Given the description of an element on the screen output the (x, y) to click on. 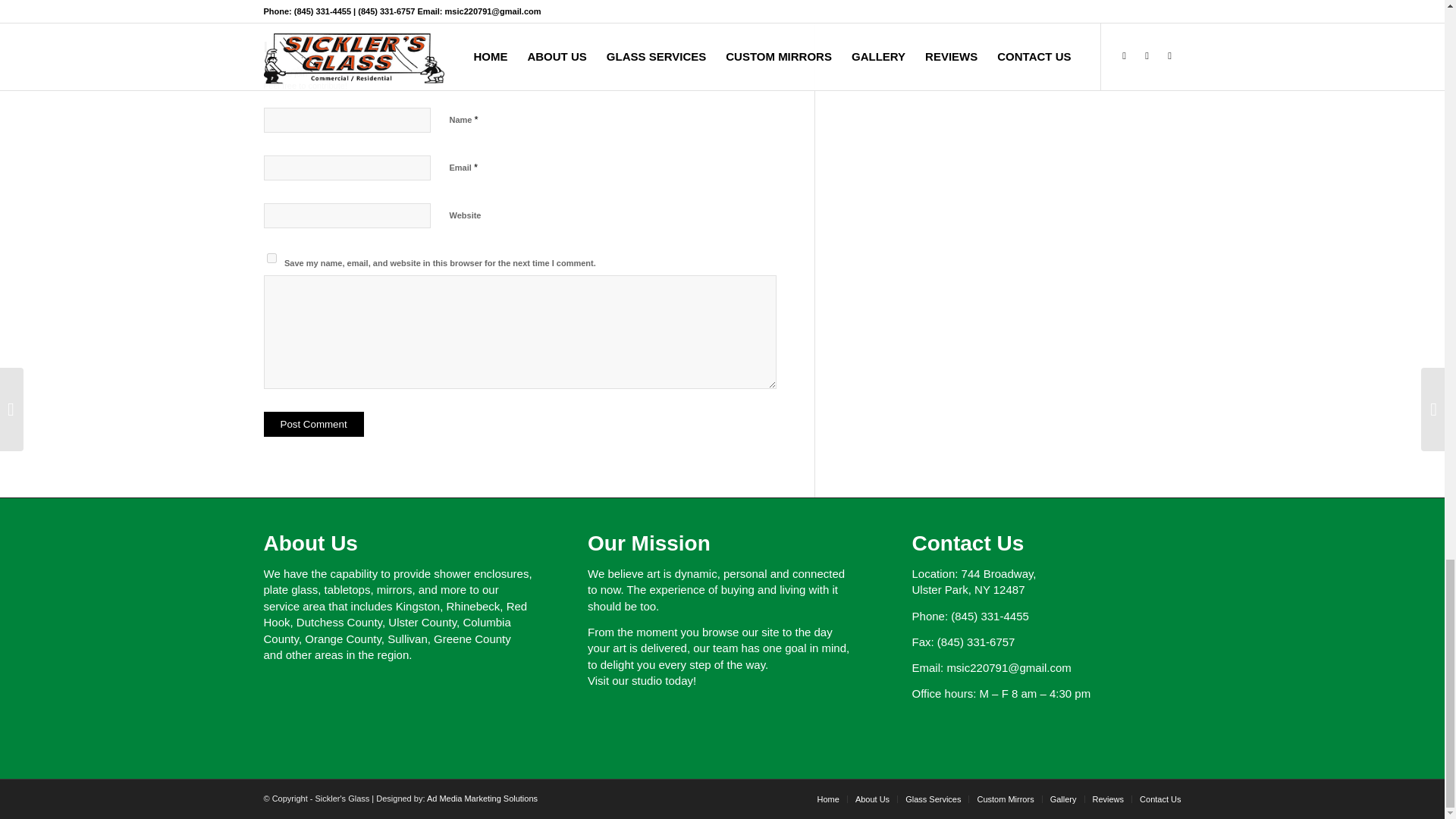
Custom Mirrors (1004, 798)
yes (271, 257)
Post Comment (313, 423)
Glass Services (932, 798)
Reviews (1108, 798)
About Us (872, 798)
Home (828, 798)
Ad Media Marketing Solutions (481, 798)
Post Comment (313, 423)
Gallery (1063, 798)
Contact Us (1160, 798)
